Given the description of an element on the screen output the (x, y) to click on. 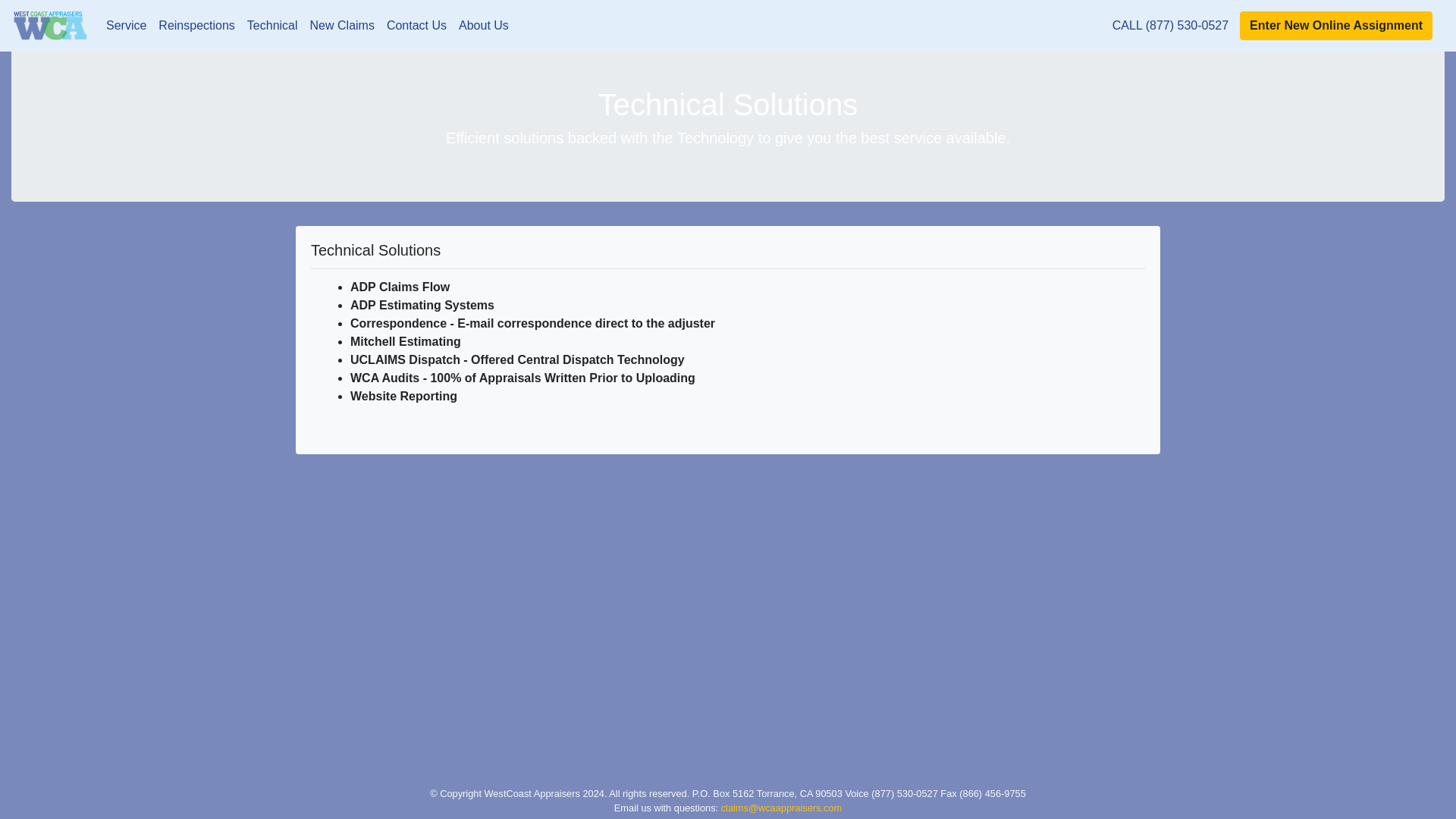
Service (126, 25)
Enter New Online Assignment (1336, 25)
About Us (483, 25)
New Claims (342, 25)
Technical (272, 25)
Reinspections (196, 25)
Contact Us (416, 25)
